Given the description of an element on the screen output the (x, y) to click on. 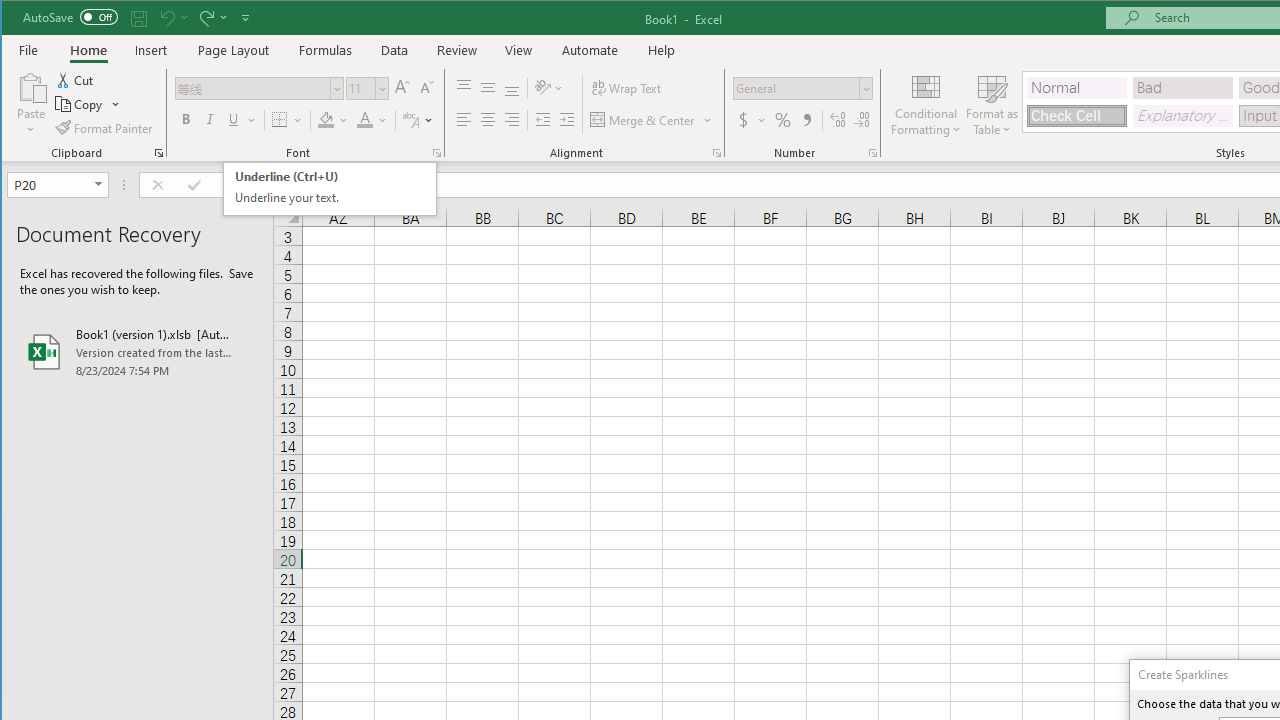
Bad (1183, 88)
Number Format (795, 88)
Accounting Number Format (751, 119)
Copy (80, 103)
Cut (75, 80)
Format Cell Font (436, 152)
Middle Align (488, 88)
